Given the description of an element on the screen output the (x, y) to click on. 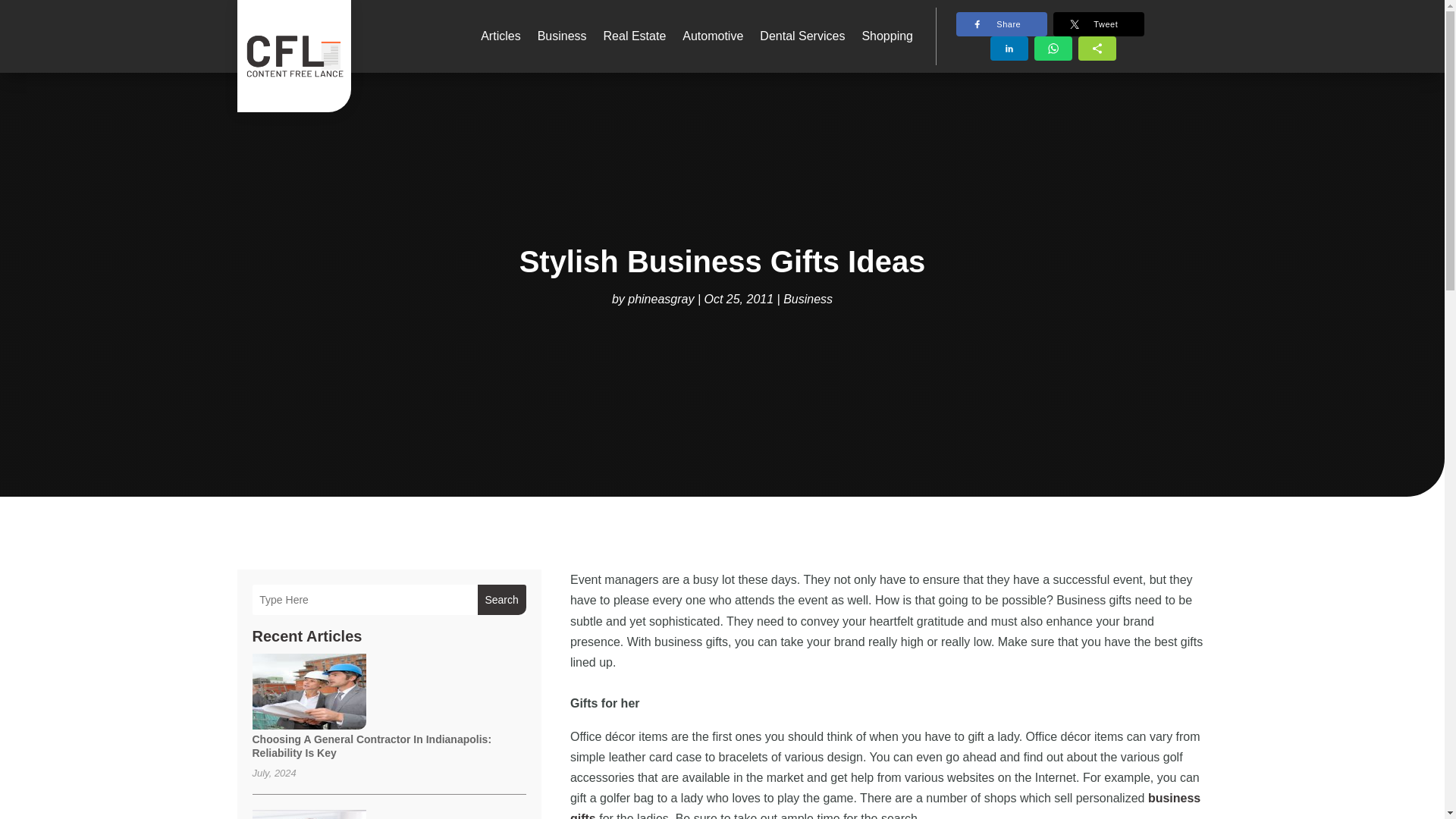
Dental Services (802, 36)
Business (807, 298)
Real Estate (635, 36)
Shopping (886, 36)
Search (501, 599)
phineasgray (660, 298)
Automotive (712, 36)
Posts by phineasgray (660, 298)
